Given the description of an element on the screen output the (x, y) to click on. 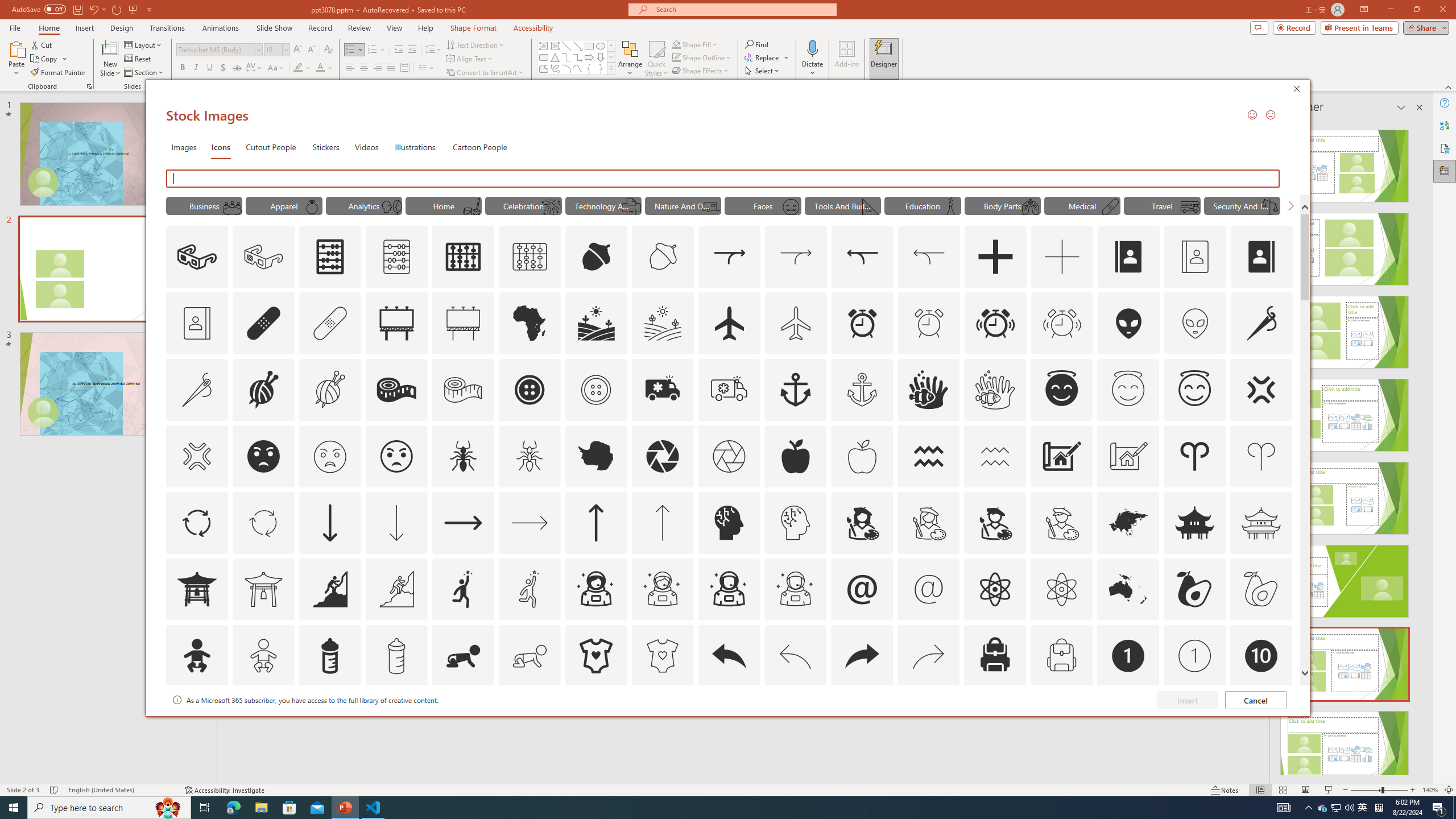
AutomationID: Icons_ArrowUp_M (662, 522)
Reset (138, 58)
AutomationID: Icons_Trailer_M (710, 206)
AutomationID: Icons_AsianTemple1 (196, 588)
Center (363, 67)
AutomationID: Icons_AdhesiveBandage_M (330, 323)
Align Text (470, 58)
AutomationID: Icons_Architecture_M (1128, 455)
